Given the description of an element on the screen output the (x, y) to click on. 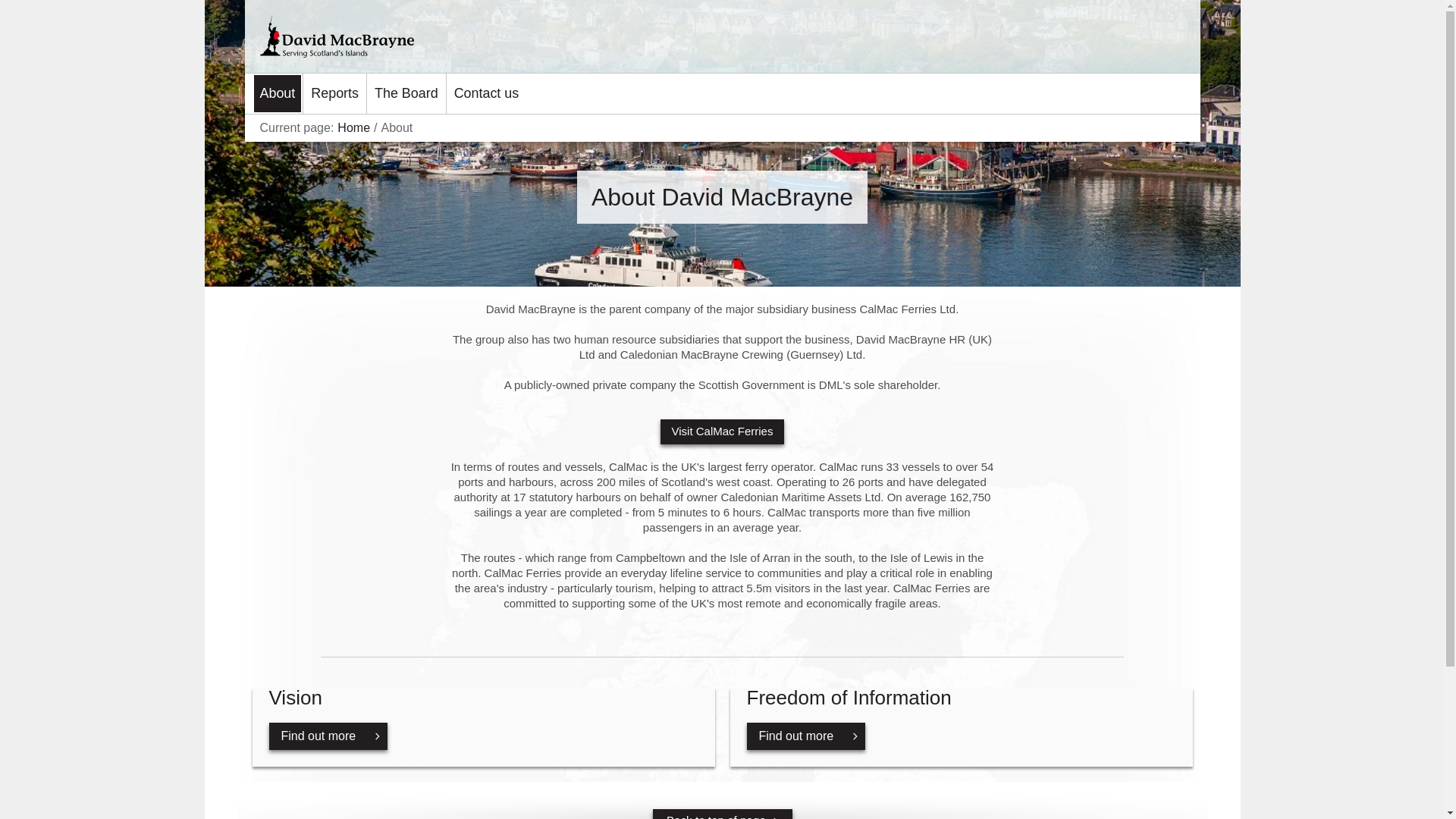
The Board (405, 93)
Home (353, 127)
Contact us (486, 93)
Skip to main content (12, 12)
Link to homepage (401, 36)
Back to top of page (722, 814)
Visit CalMac Ferries (722, 431)
Reports (960, 726)
